Given the description of an element on the screen output the (x, y) to click on. 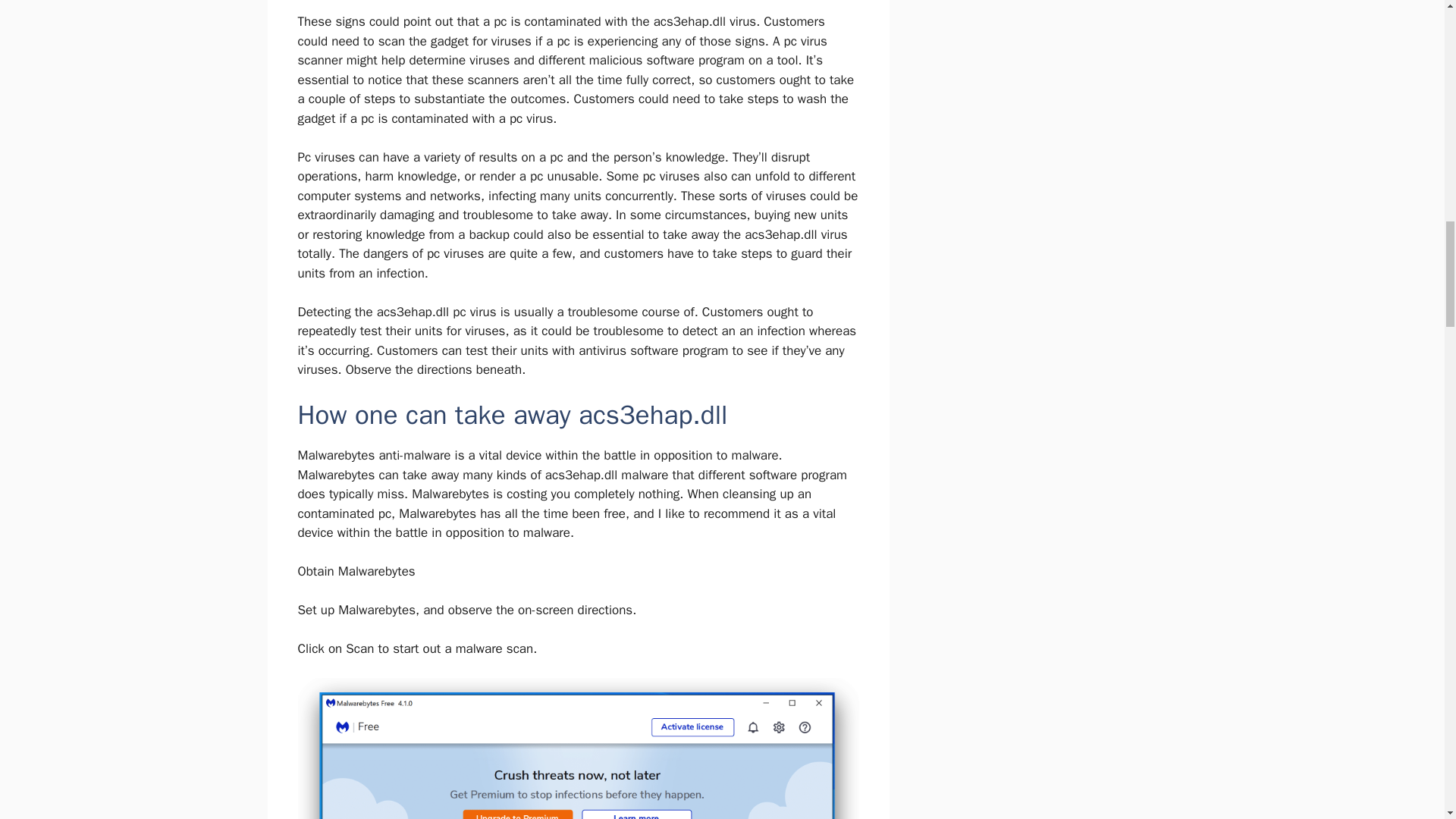
How to remove acs3ehap.dll 1 (578, 748)
